Given the description of an element on the screen output the (x, y) to click on. 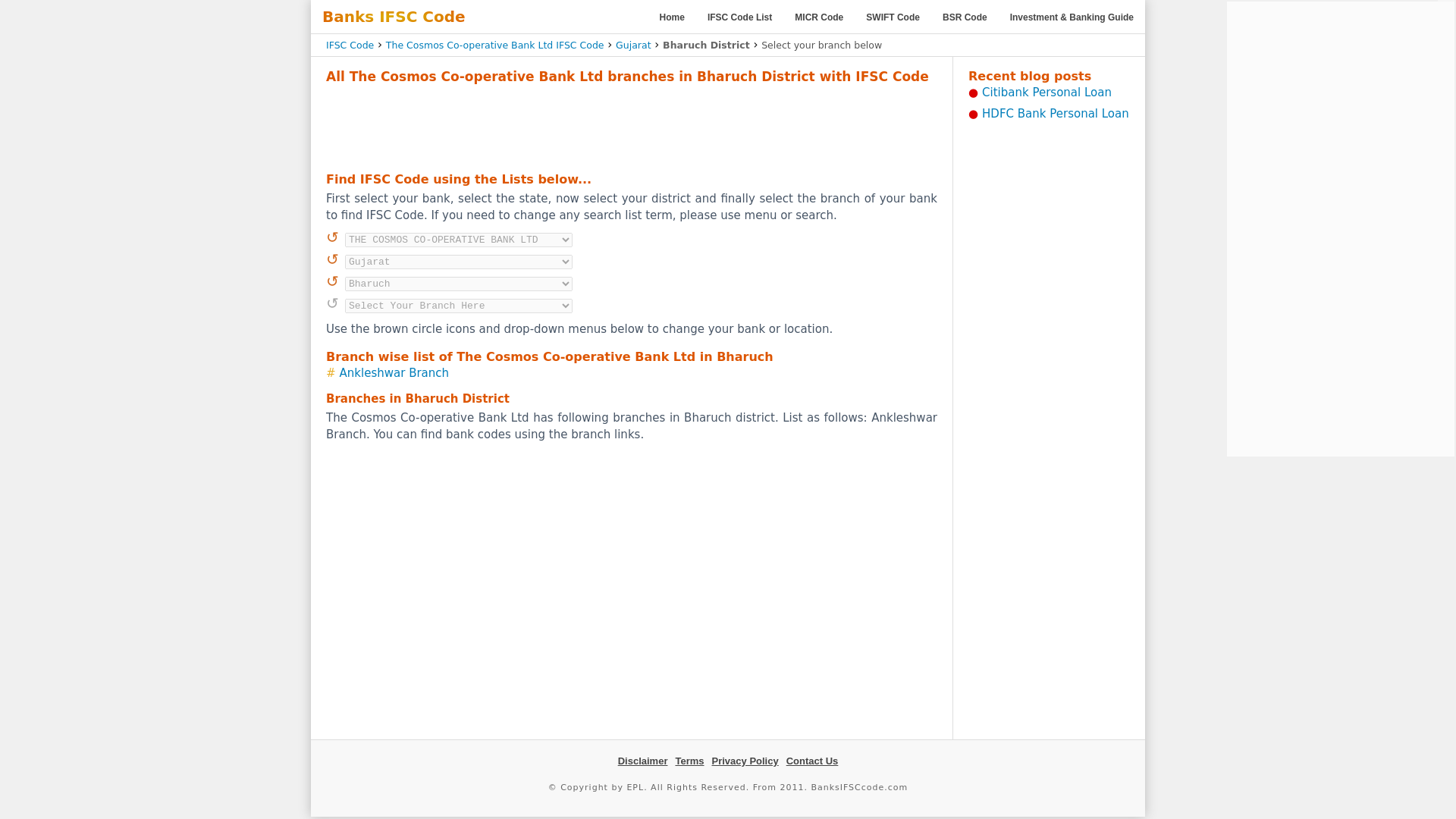
Bank Loan, Investment, Banking and Insurance Guide (1072, 17)
SWIFT Code (893, 17)
All Banks SWIFT Code List (893, 17)
Contact Us (812, 760)
Home (671, 17)
Ankleshwar Branch (393, 373)
The Cosmos Co-operative Bank Ltd IFSC Code (494, 44)
List of all NEFT enabled banks in India (739, 17)
IFSC Code (350, 44)
All Banks MICR Code List (818, 17)
BSR Code List (964, 17)
HDFC Bank Personal Loan (1055, 113)
BSR Code (964, 17)
Disclaimer (642, 760)
